Given the description of an element on the screen output the (x, y) to click on. 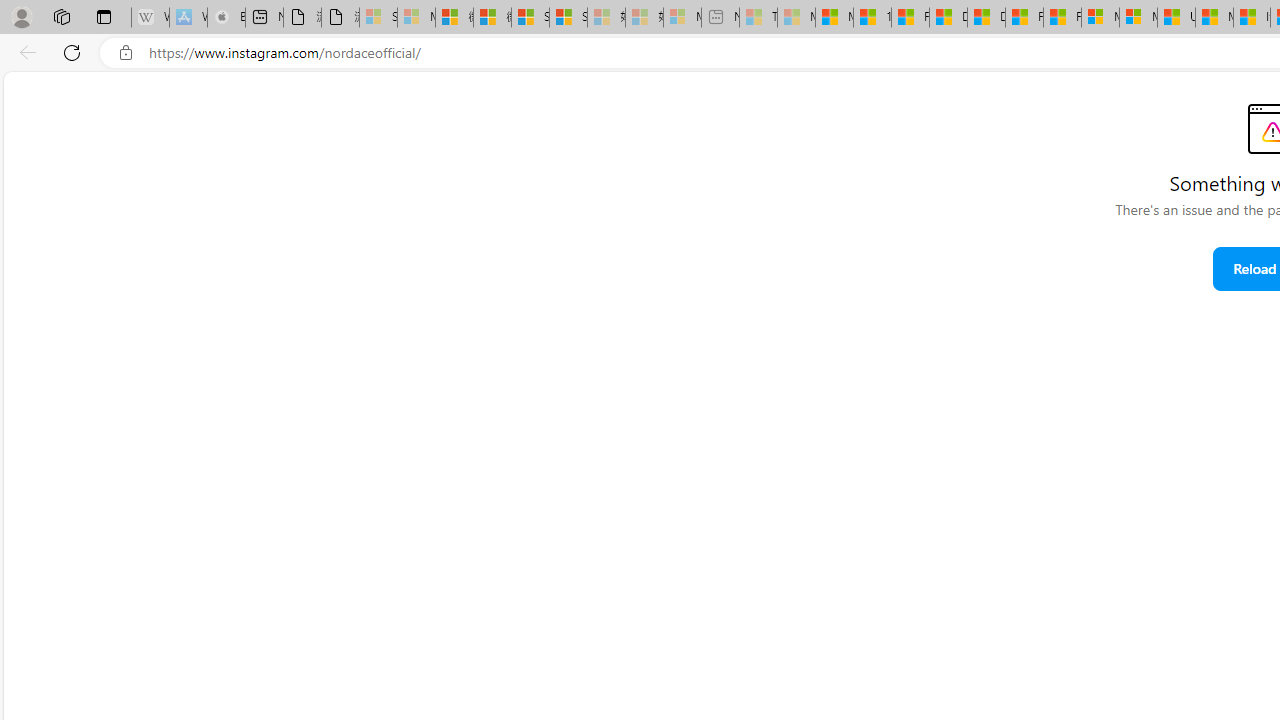
Buy iPad - Apple - Sleeping (225, 17)
Sign in to your Microsoft account - Sleeping (377, 17)
Microsoft Services Agreement - Sleeping (416, 17)
Foo BAR | Trusted Community Engagement and Contributions (1062, 17)
Top Stories - MSN - Sleeping (757, 17)
